Given the description of an element on the screen output the (x, y) to click on. 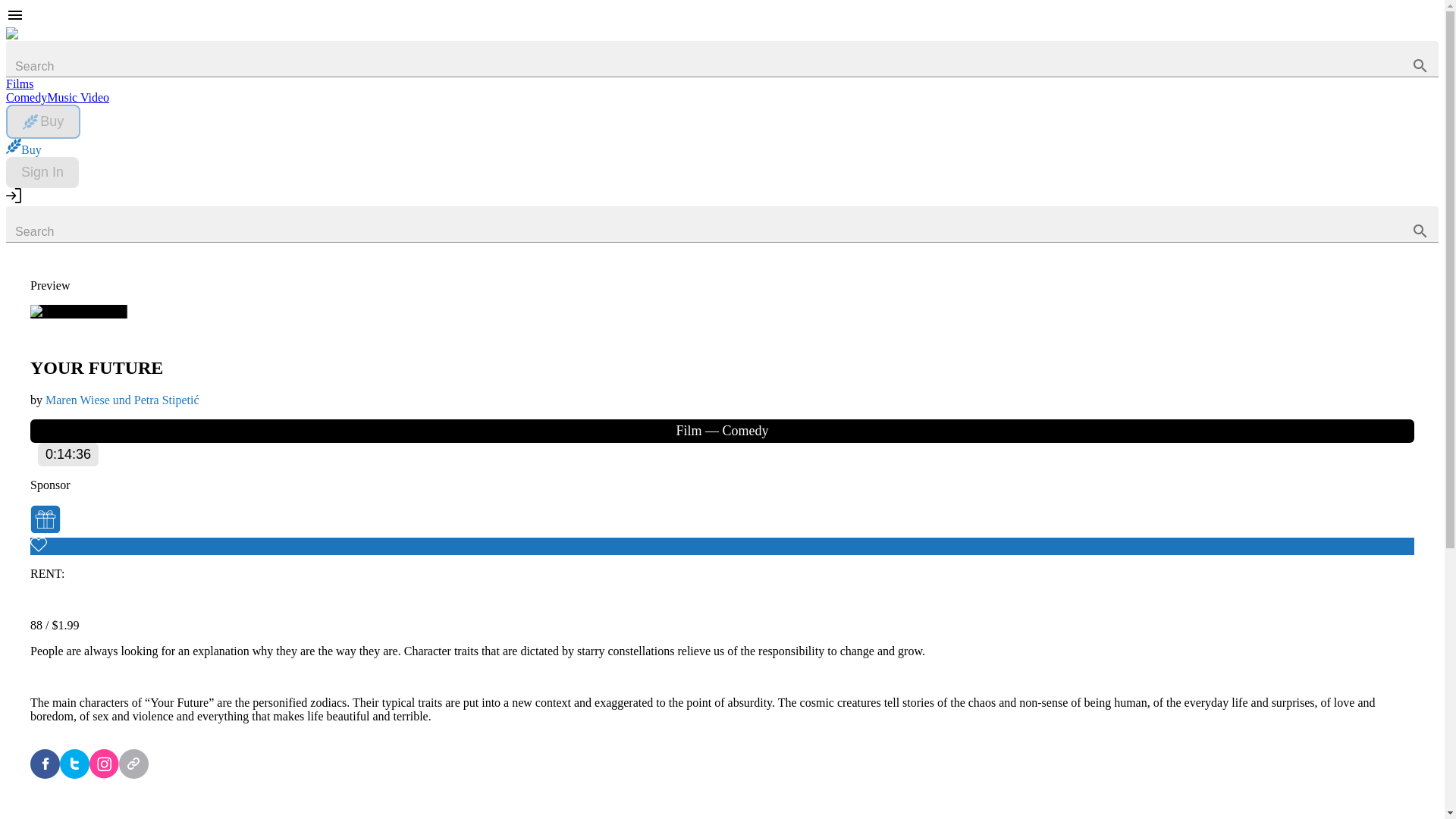
Sign In (41, 172)
Comedy (25, 97)
Films (19, 83)
Music Video (77, 97)
Buy (42, 121)
